Given the description of an element on the screen output the (x, y) to click on. 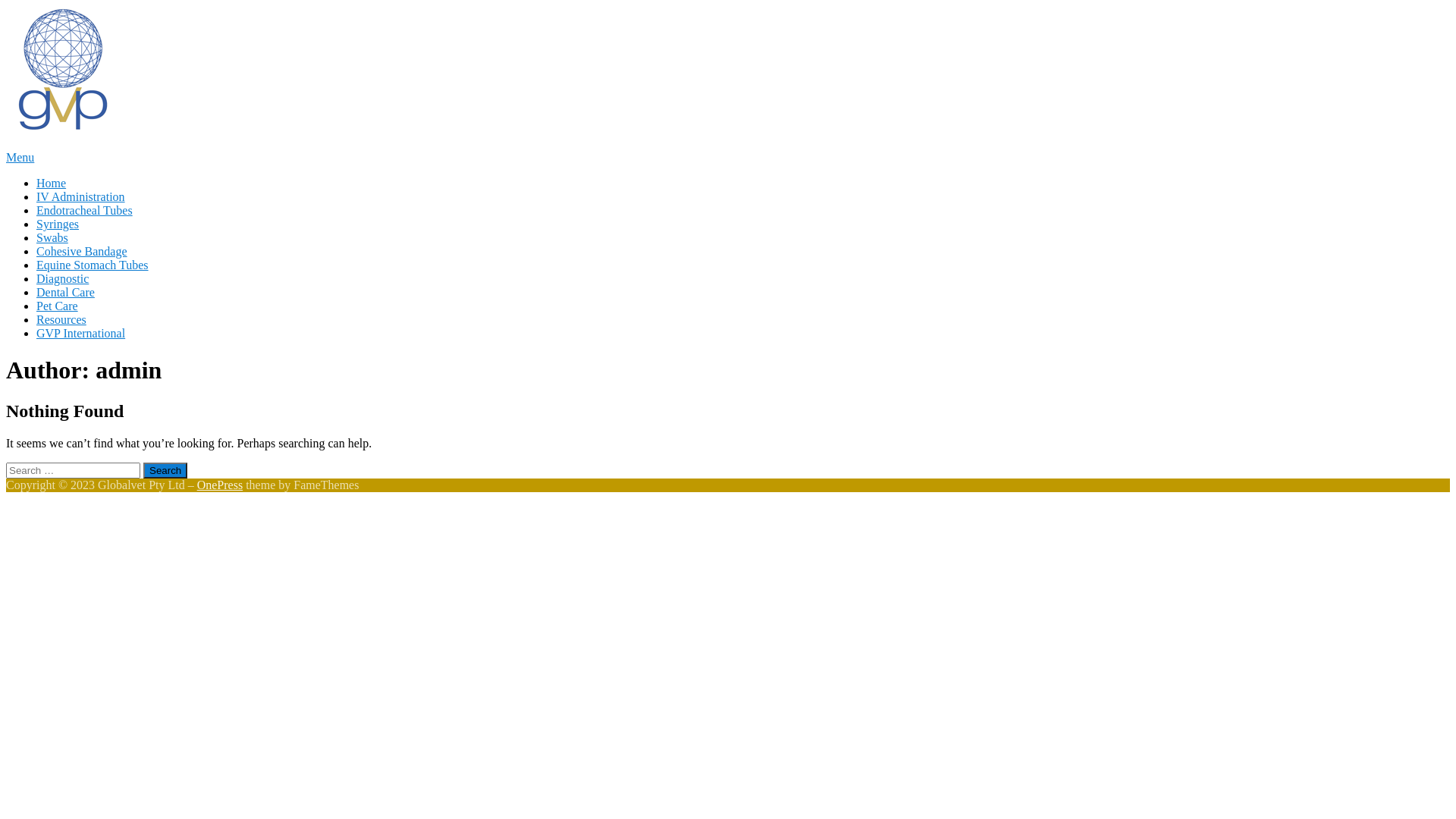
Pet Care Element type: text (57, 305)
Equine Stomach Tubes Element type: text (92, 264)
Cohesive Bandage Element type: text (81, 250)
IV Administration Element type: text (80, 196)
Skip to content Element type: text (5, 5)
Menu Element type: text (20, 156)
OnePress Element type: text (219, 484)
Syringes Element type: text (57, 223)
Home Element type: text (50, 182)
Search Element type: text (165, 470)
Diagnostic Element type: text (62, 278)
Endotracheal Tubes Element type: text (84, 209)
Resources Element type: text (61, 319)
Dental Care Element type: text (65, 291)
Swabs Element type: text (52, 237)
GVP International Element type: text (80, 332)
